Given the description of an element on the screen output the (x, y) to click on. 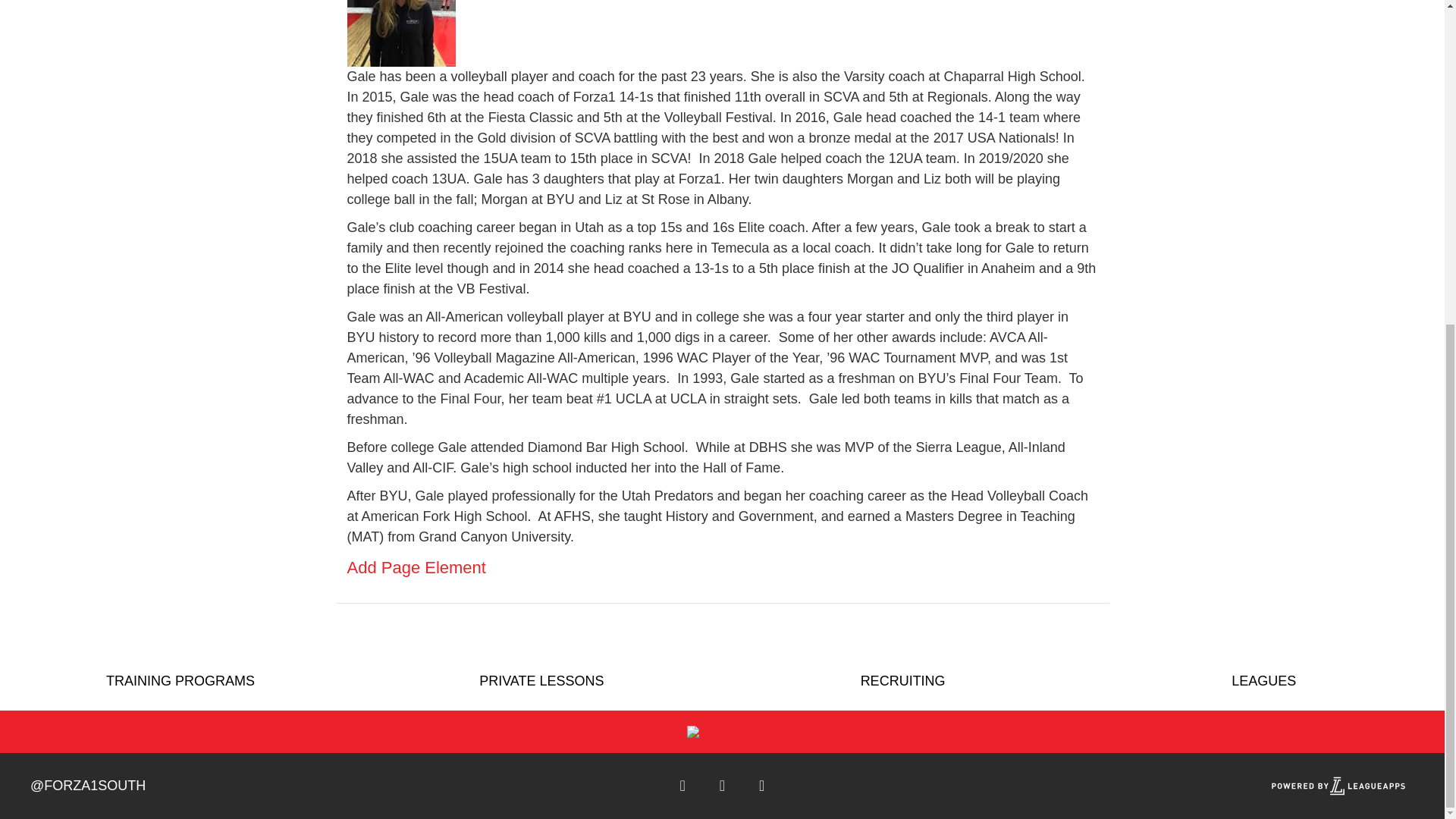
private lessons (541, 680)
LEAGUES (1263, 680)
recruiting (902, 680)
powered by leagueapps - white (1337, 785)
TRAINING PROGRAMS (180, 680)
logowhite (722, 731)
